Given the description of an element on the screen output the (x, y) to click on. 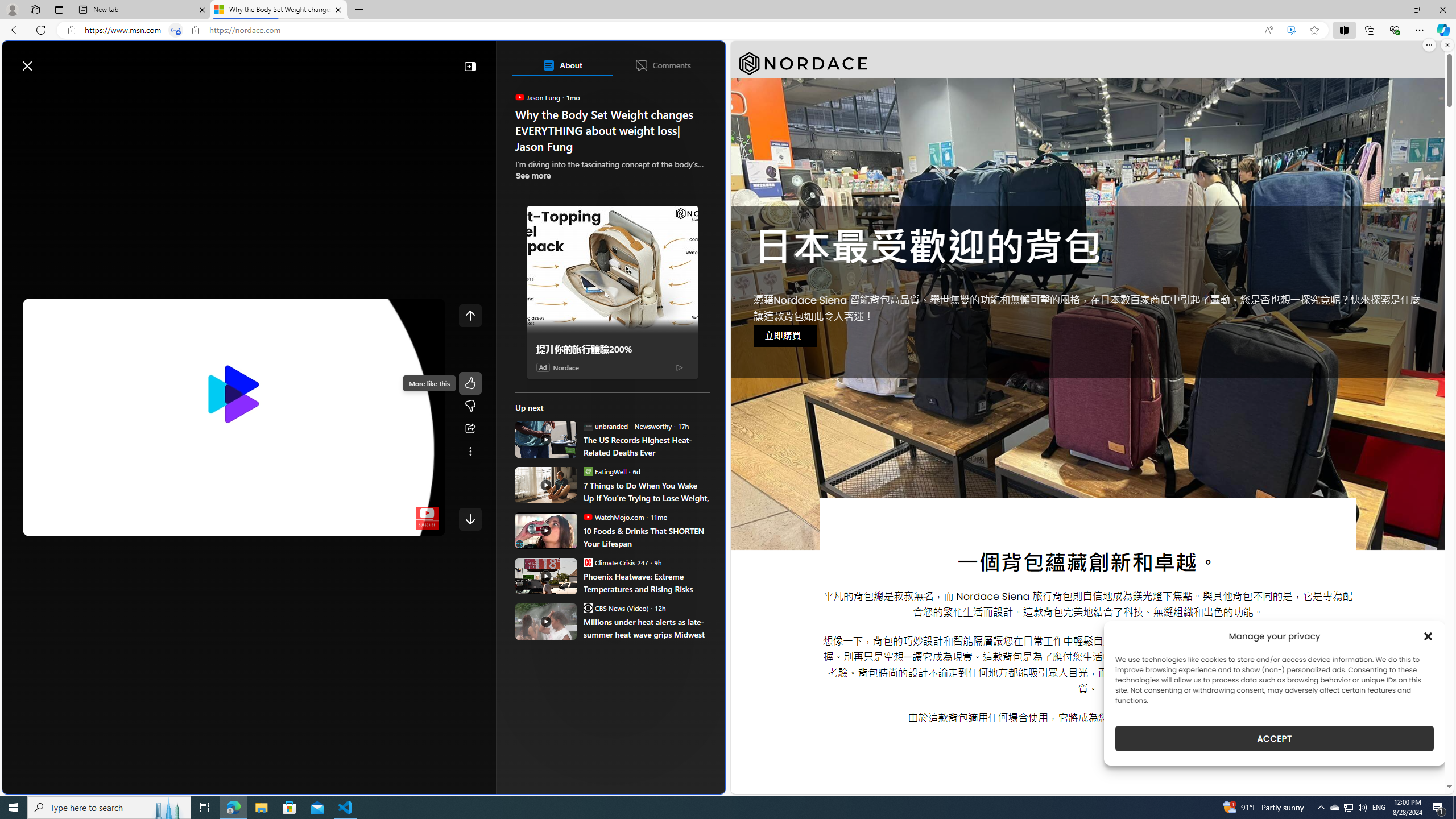
Address and search bar (669, 29)
Open settings (699, 60)
Minimize (1390, 9)
unbranded - Newsworthy (587, 425)
10 Foods & Drinks That SHORTEN Your Lifespan (545, 529)
Watch (141, 92)
Personalize (679, 92)
Watch (145, 92)
